Given the description of an element on the screen output the (x, y) to click on. 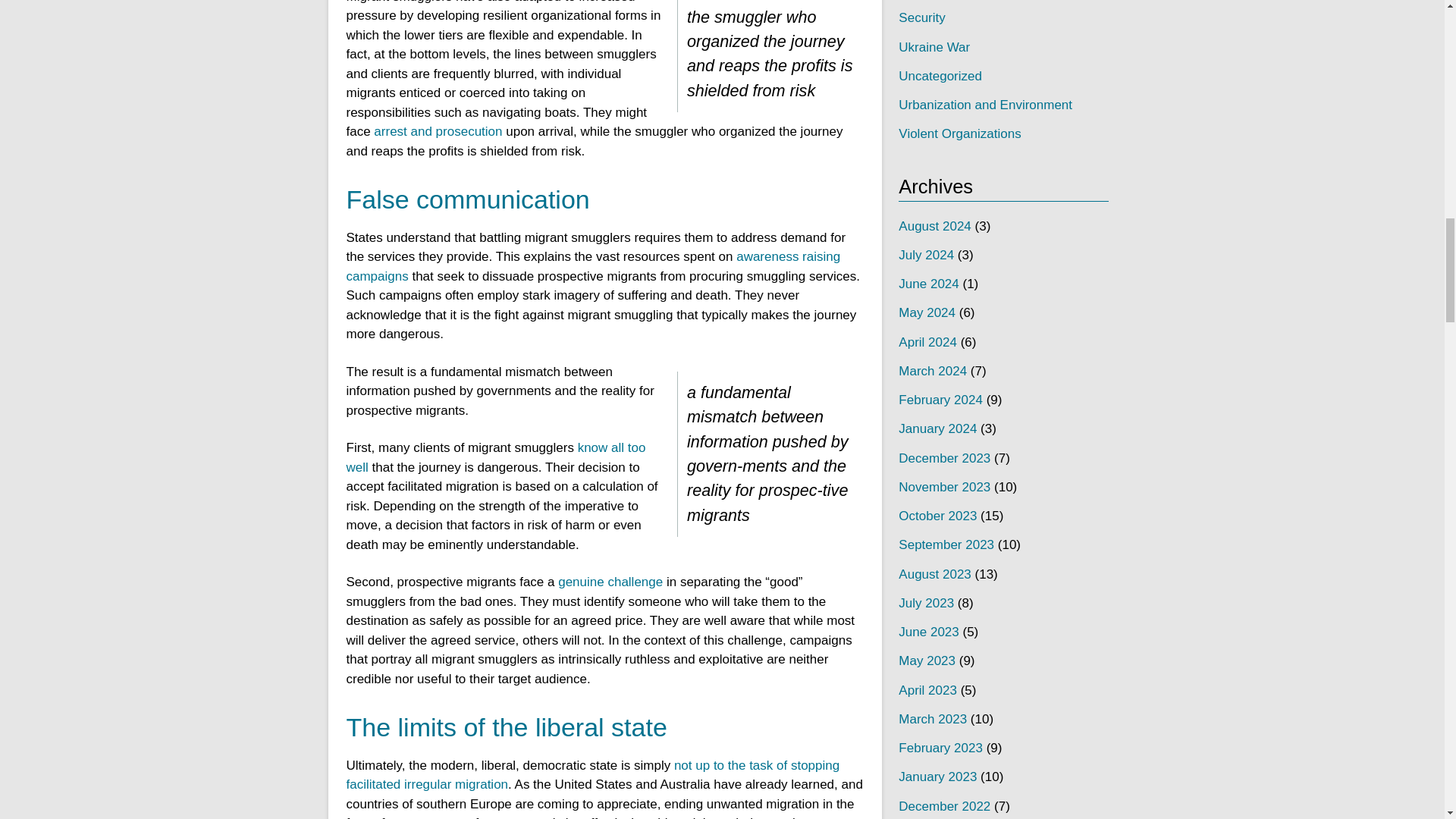
know all too well (495, 457)
arrest and prosecution (438, 131)
awareness raising campaigns (593, 266)
genuine challenge (609, 581)
